Given the description of an element on the screen output the (x, y) to click on. 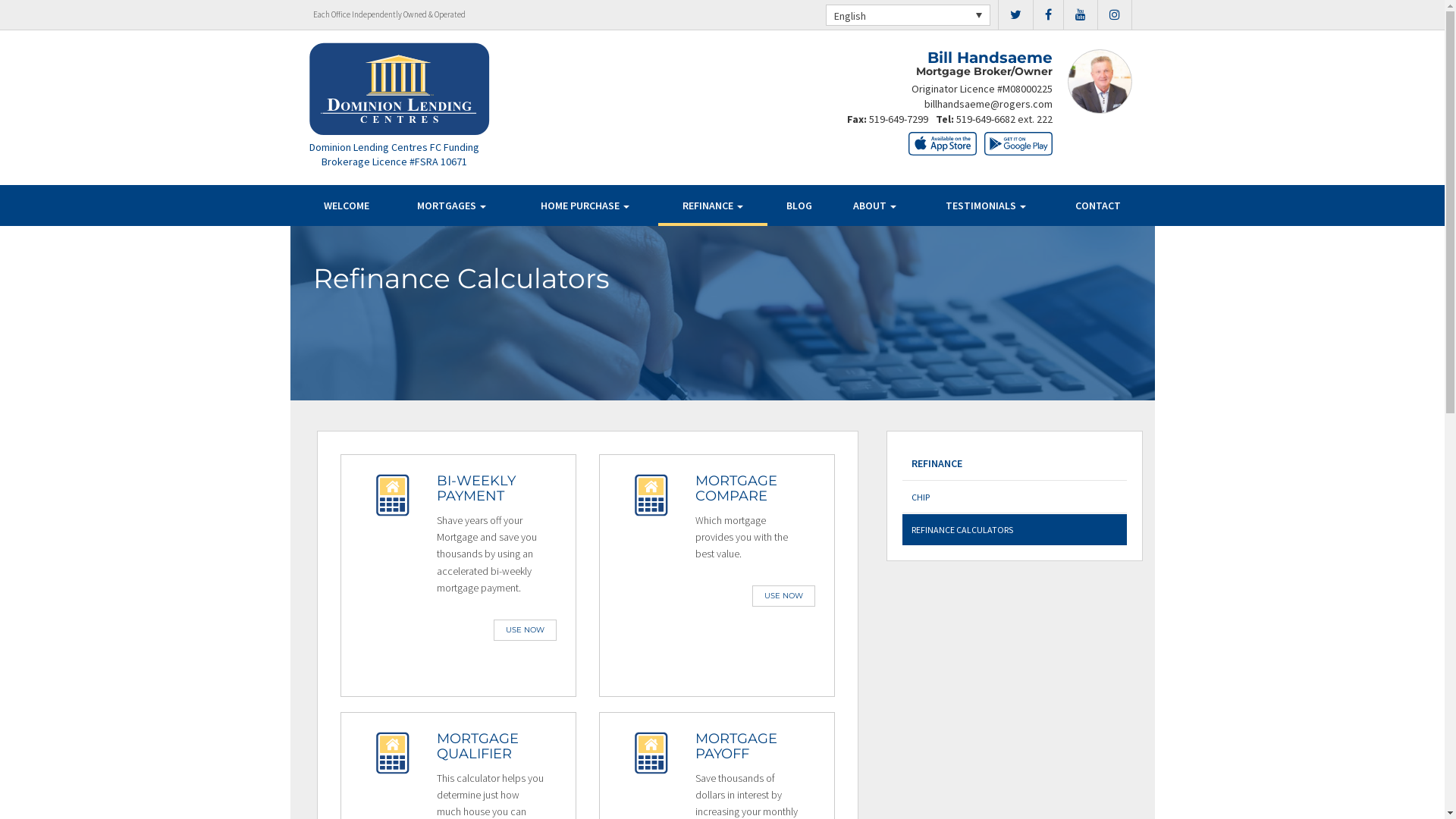
REFINANCE CALCULATORS Element type: text (1014, 529)
USE NOW Element type: text (783, 595)
USE NOW Element type: text (524, 629)
BLOG Element type: text (799, 205)
REFINANCE Element type: text (1014, 463)
CHIP Element type: text (1014, 496)
REFINANCE Element type: text (712, 205)
519-649-6682 ext. 222 Element type: text (1003, 118)
CONTACT Element type: text (1097, 205)
ABOUT Element type: text (874, 205)
WELCOME Element type: text (346, 205)
TESTIMONIALS Element type: text (986, 205)
HOME PURCHASE Element type: text (584, 205)
519-649-7299 Element type: text (898, 118)
billhandsaeme@rogers.com Element type: text (987, 103)
MORTGAGES Element type: text (451, 205)
English Element type: text (907, 14)
